Given the description of an element on the screen output the (x, y) to click on. 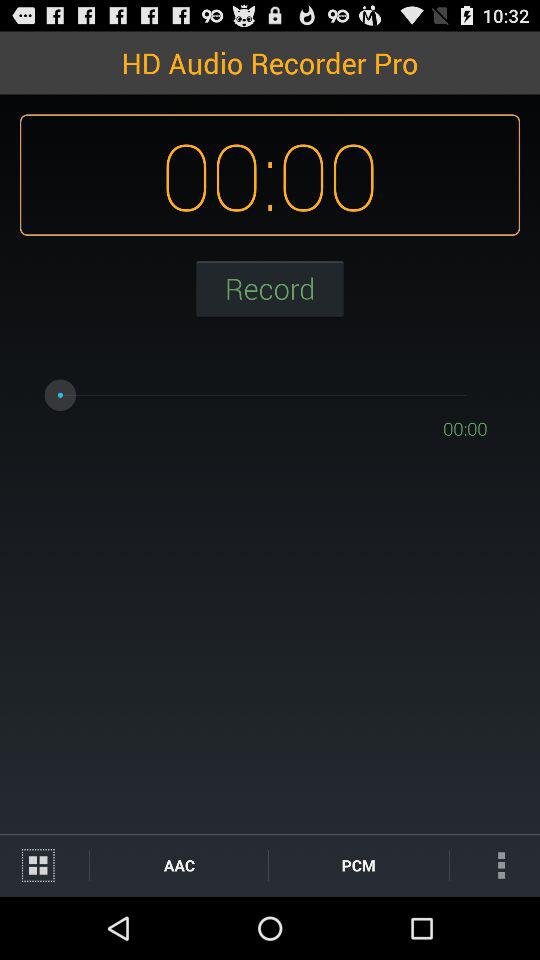
launch item next to pcm icon (178, 864)
